Given the description of an element on the screen output the (x, y) to click on. 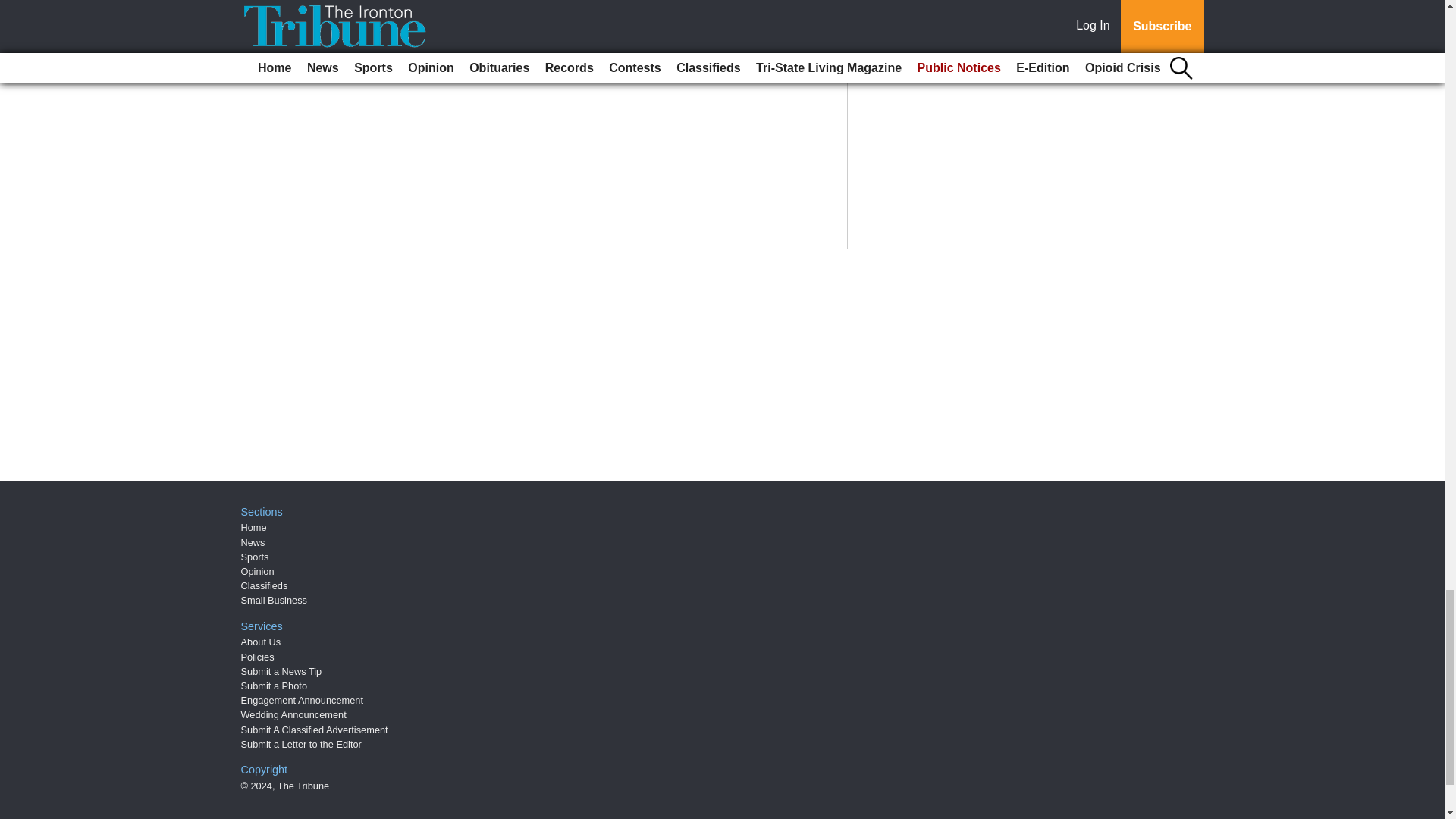
Opinion (258, 571)
Sports (255, 556)
News (252, 542)
Small Business (274, 600)
Home (253, 527)
Classifieds (264, 585)
